Given the description of an element on the screen output the (x, y) to click on. 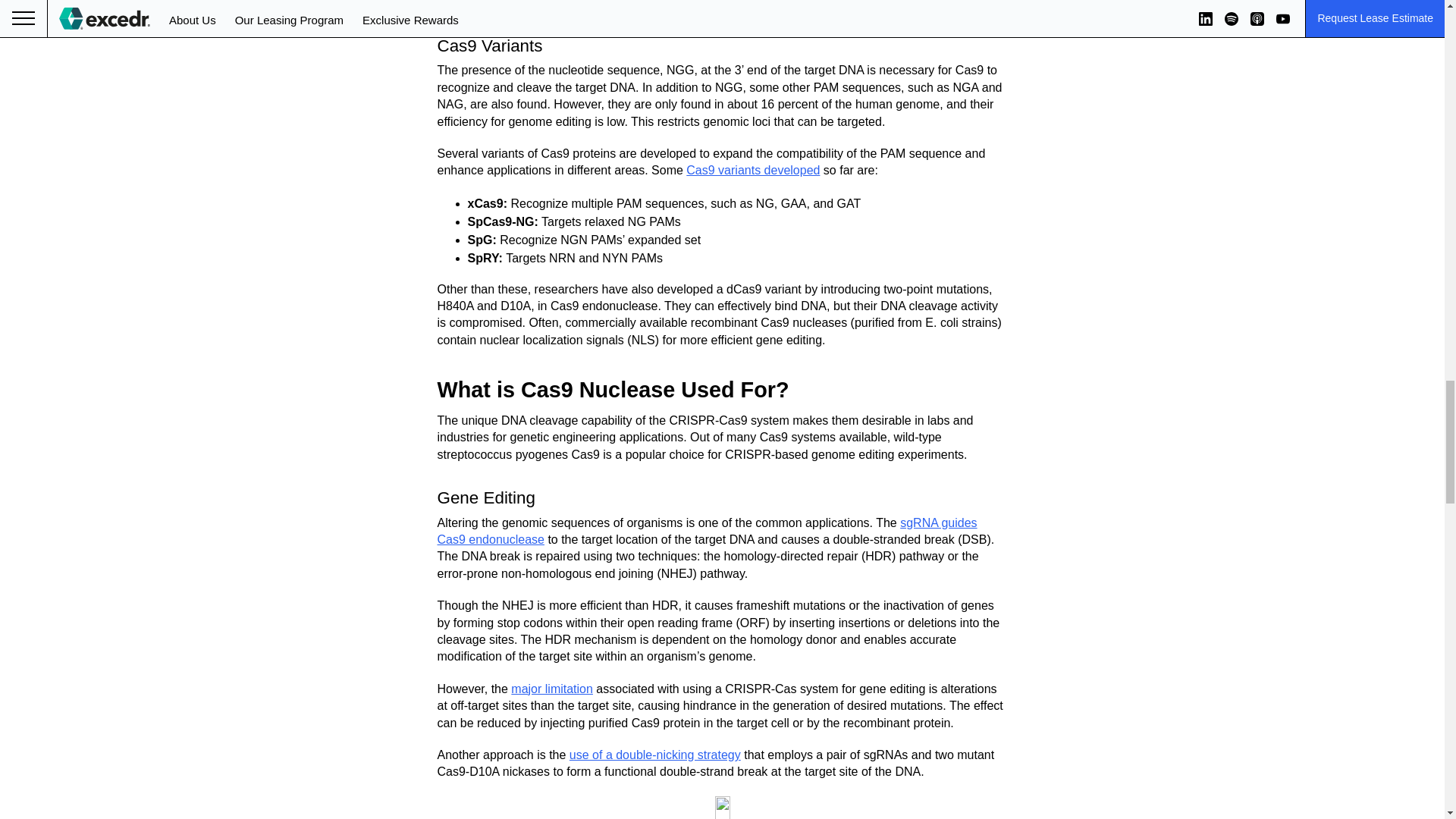
Cas9 variants developed (752, 169)
